Given the description of an element on the screen output the (x, y) to click on. 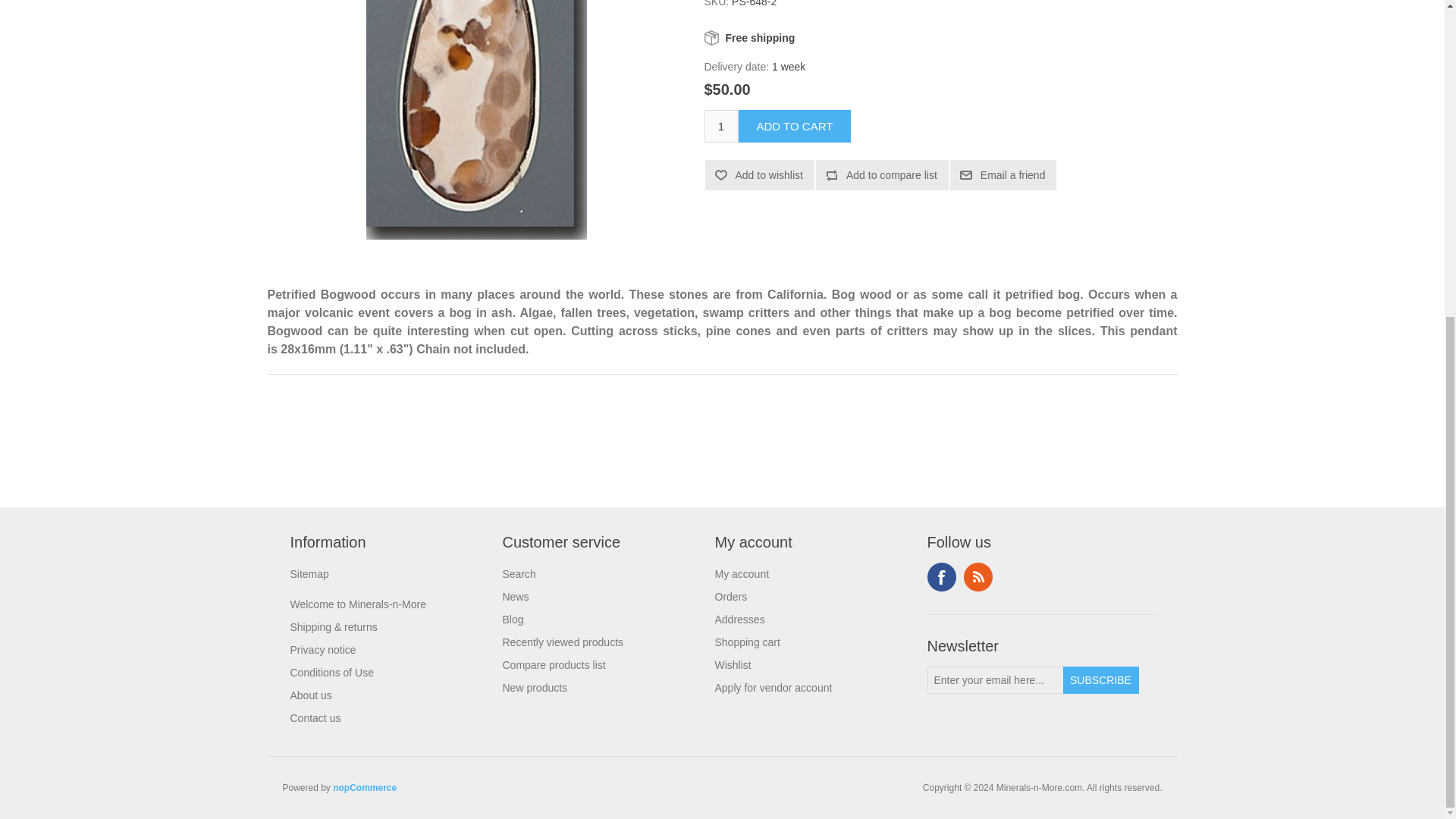
Email a friend (1003, 174)
Add to compare list (882, 174)
Add to cart (794, 125)
1 (720, 125)
Petrified Bogwood silver Pendant (476, 119)
Add to wishlist (758, 174)
Subscribe (1100, 679)
